Given the description of an element on the screen output the (x, y) to click on. 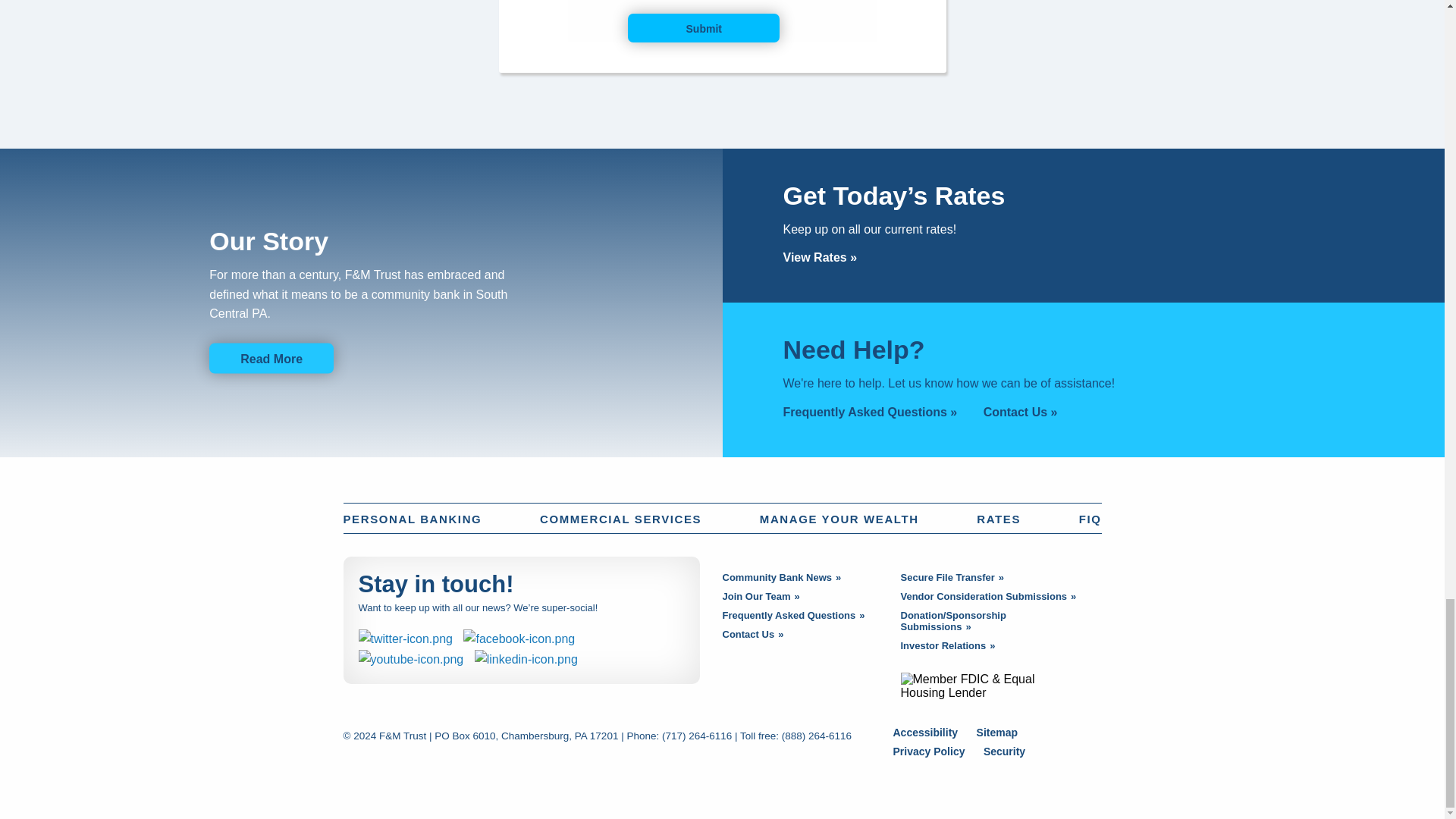
Submit (702, 27)
Our Story (271, 358)
Frequently Asked Questions (869, 411)
Contact (1021, 411)
Rates (820, 256)
